Given the description of an element on the screen output the (x, y) to click on. 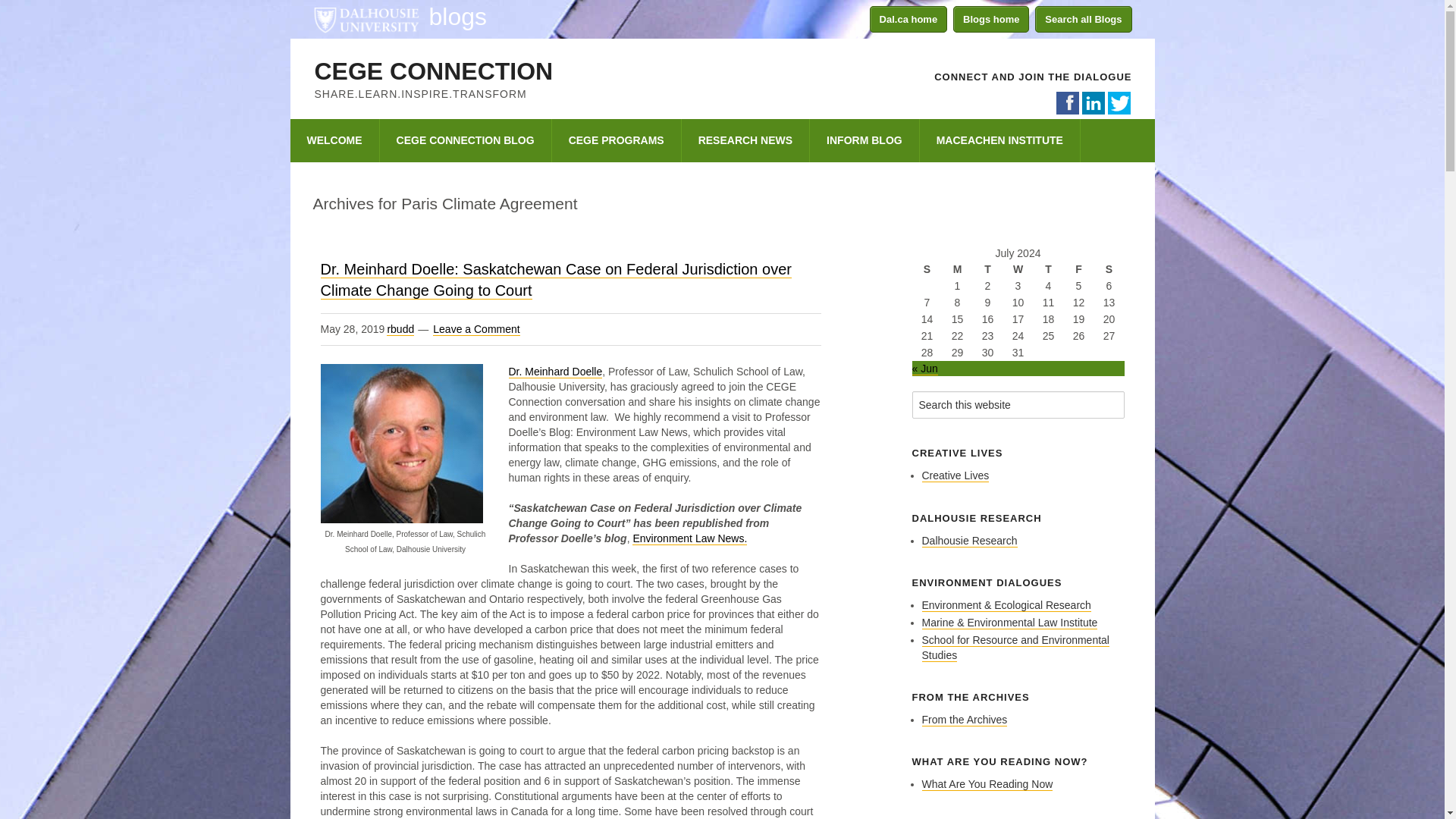
Thursday (1047, 269)
CEGE PROGRAMS (616, 140)
INFORM BLOG (864, 140)
Dr. Meinhard Doelle (555, 371)
Friday (1077, 269)
Dalhousie University (365, 18)
L (1117, 102)
WELCOME (333, 140)
Wednesday (1017, 269)
Leave a Comment (475, 328)
CEGE CONNECTION BLOG (465, 140)
Environment Law News. (688, 538)
Monday (957, 269)
I (1092, 102)
